Given the description of an element on the screen output the (x, y) to click on. 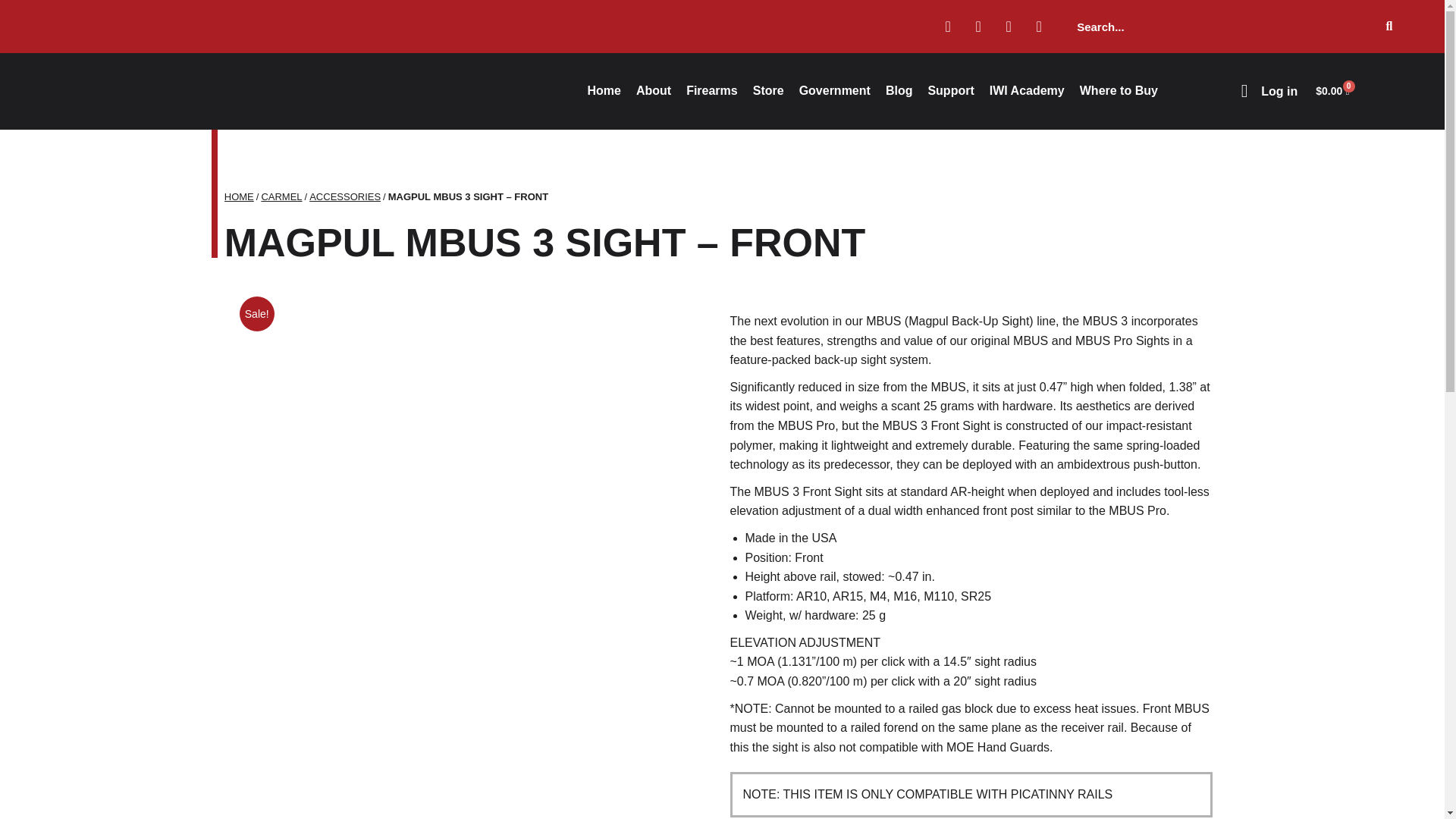
Carmel (280, 196)
Home (238, 196)
Search (1217, 26)
Home (603, 90)
Firearms (711, 90)
About (653, 90)
Store (768, 90)
Support (950, 90)
Accessories (344, 196)
Blog (898, 90)
